Given the description of an element on the screen output the (x, y) to click on. 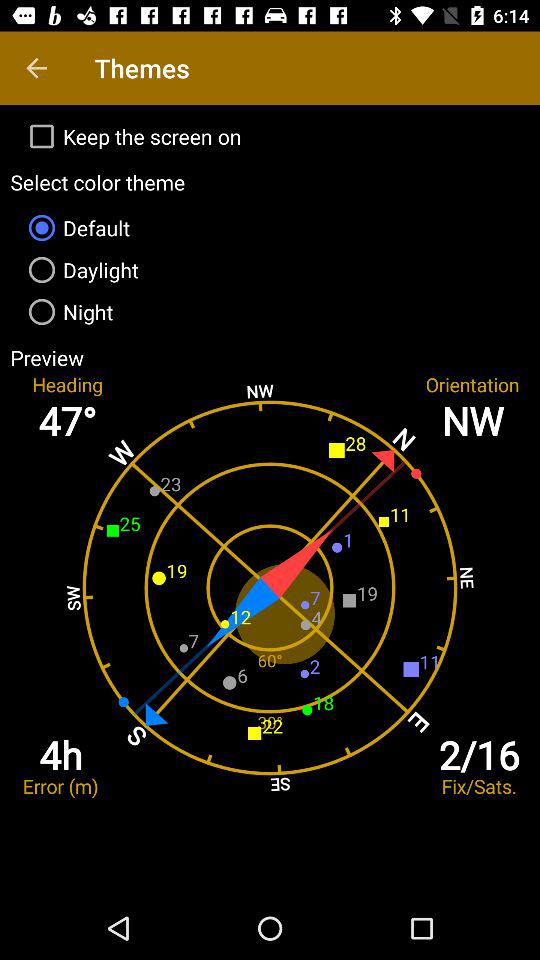
flip until the daylight (270, 269)
